Given the description of an element on the screen output the (x, y) to click on. 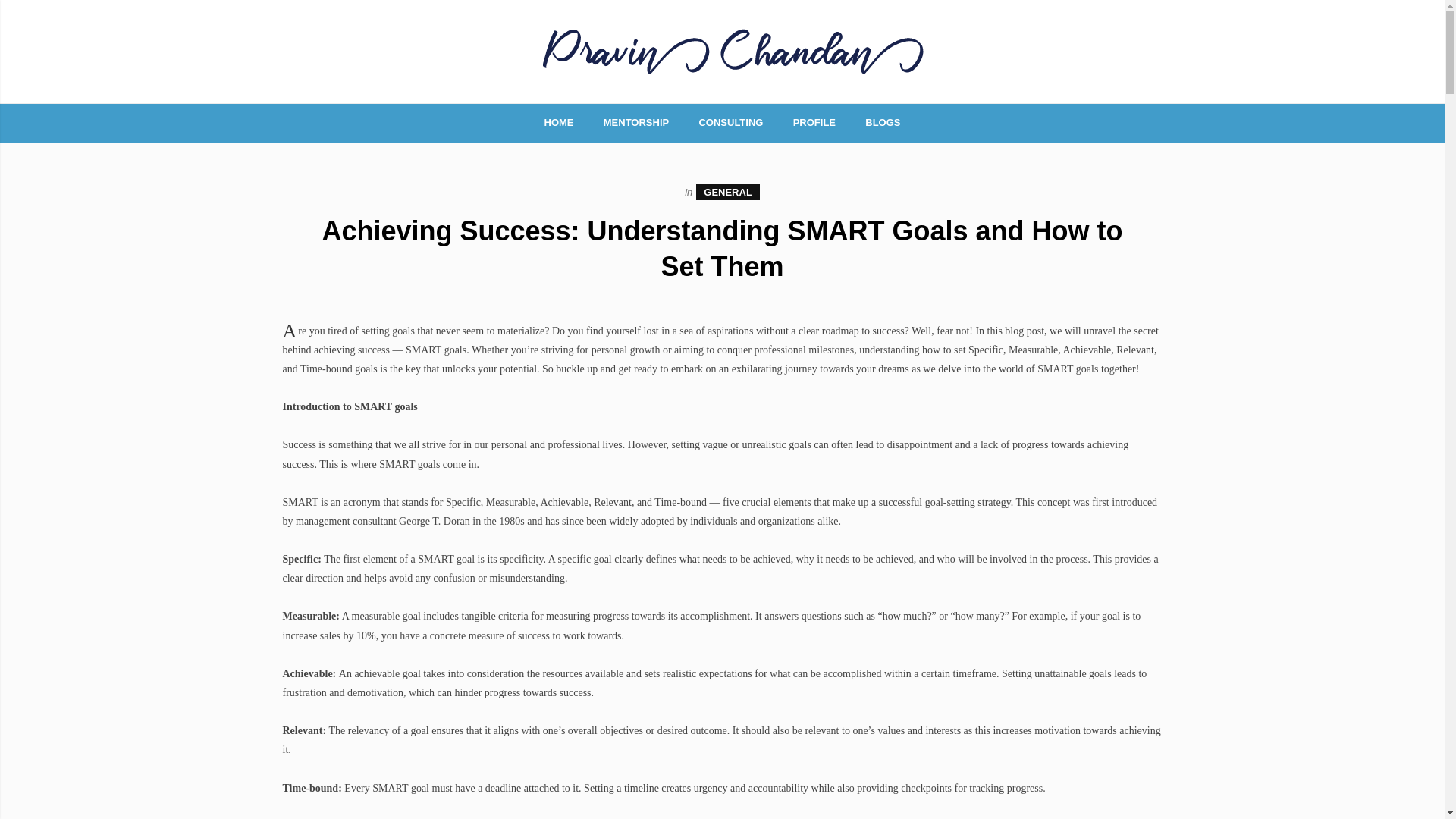
HOME (558, 122)
MENTORSHIP (636, 122)
GENERAL (727, 191)
CONSULTING (730, 122)
BLOGS (882, 122)
PROFILE (814, 122)
